Given the description of an element on the screen output the (x, y) to click on. 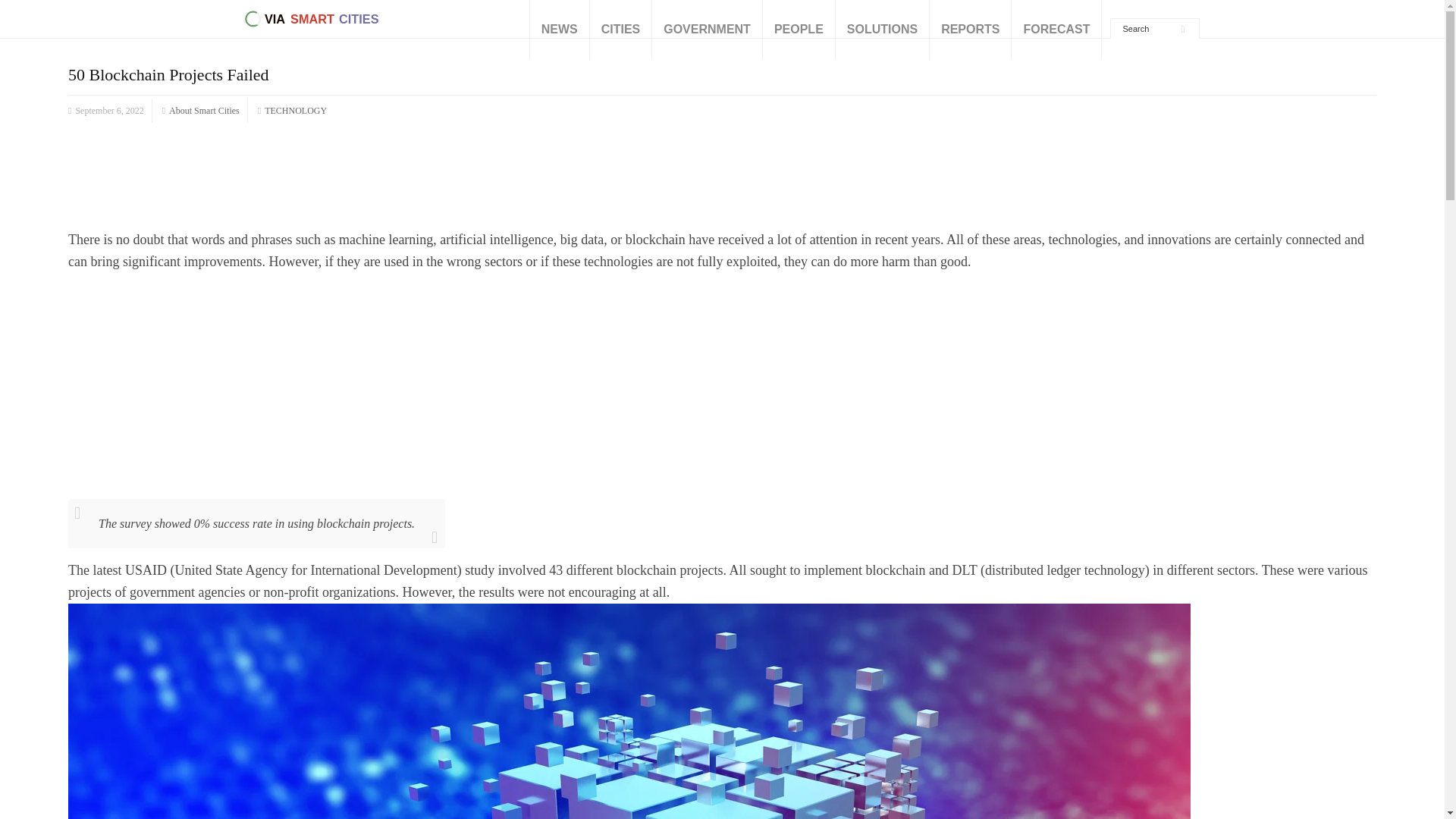
GOVERNMENT (706, 29)
TECHNOLOGY (295, 110)
Search (1147, 29)
FORECAST (1055, 29)
Advertisement (722, 385)
REPORTS (970, 29)
SOLUTIONS (881, 29)
CITIES (620, 29)
Search (1147, 29)
